Given the description of an element on the screen output the (x, y) to click on. 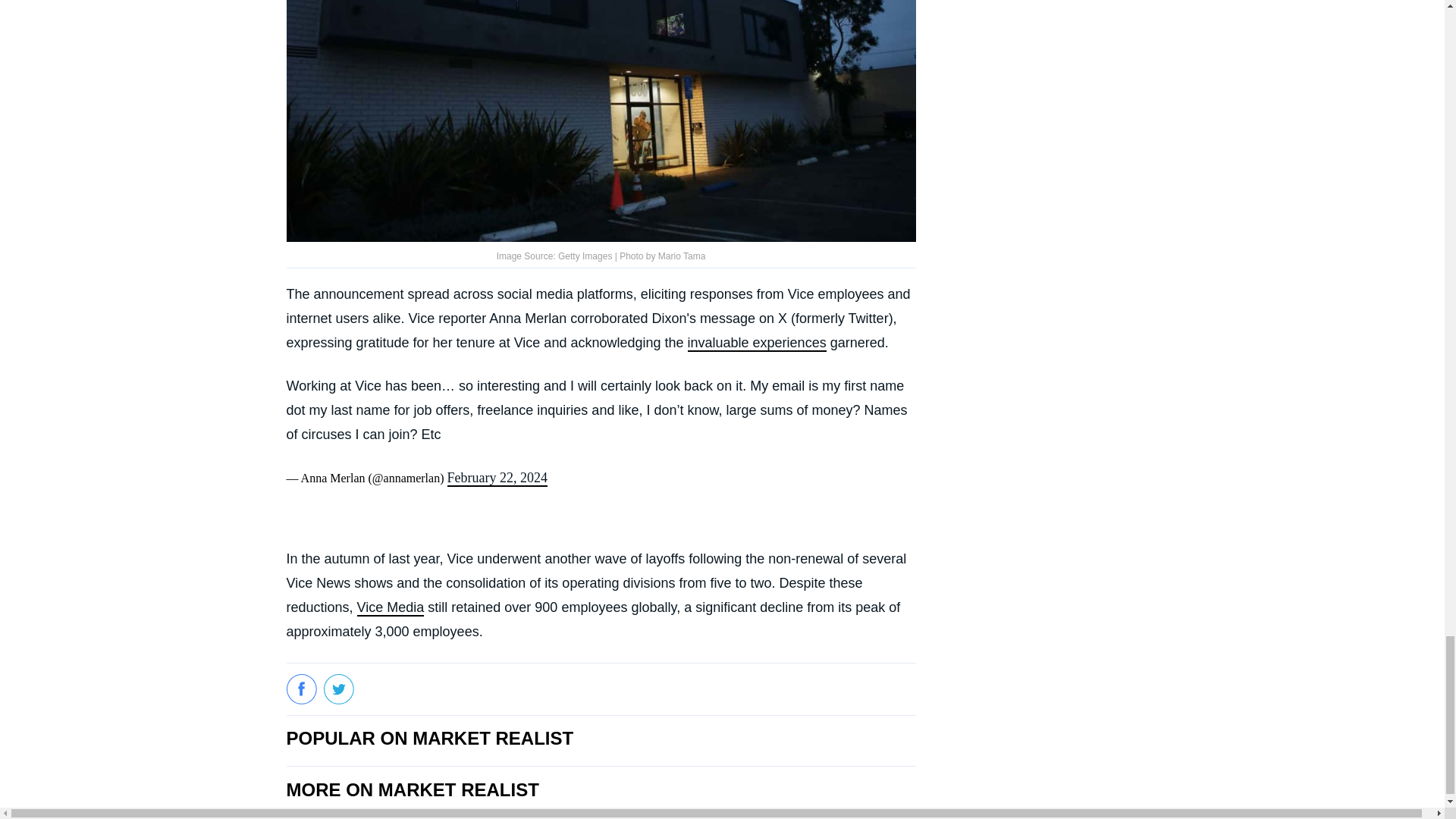
invaluable experiences (757, 343)
February 22, 2024 (496, 478)
Vice Media (390, 607)
